Given the description of an element on the screen output the (x, y) to click on. 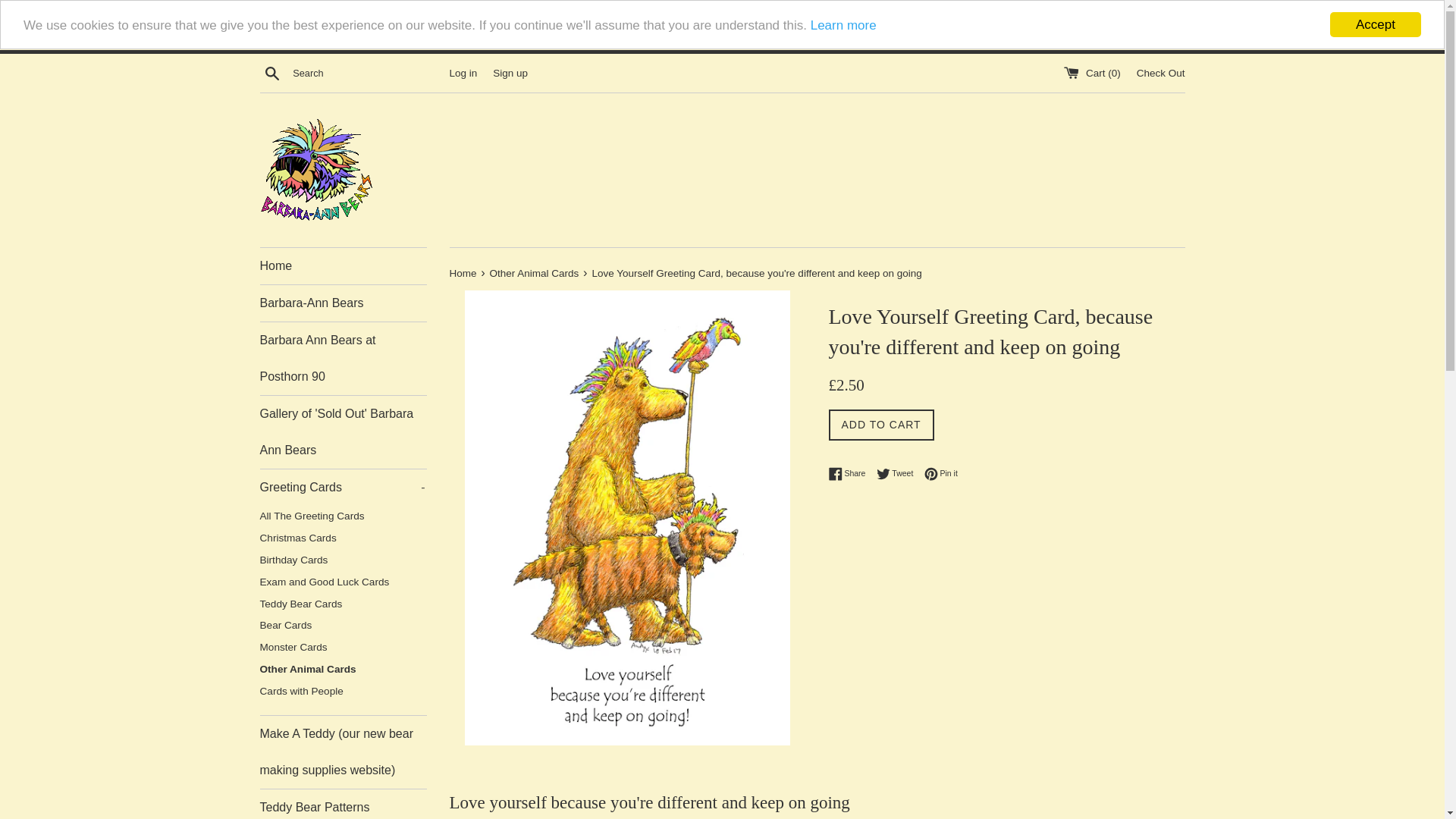
Tweet on Twitter (898, 473)
Home (342, 266)
Teddy Bear Cards (342, 604)
Cards with People (342, 691)
Back to the frontpage (463, 273)
Birthday Cards (342, 560)
Christmas Cards (342, 538)
Search (271, 61)
Bear Cards (342, 626)
Check Out (1161, 69)
Other Animal Cards (342, 669)
Barbara-Ann Bears (342, 303)
Log in (462, 63)
Sign up (510, 66)
Share on Facebook (850, 473)
